Given the description of an element on the screen output the (x, y) to click on. 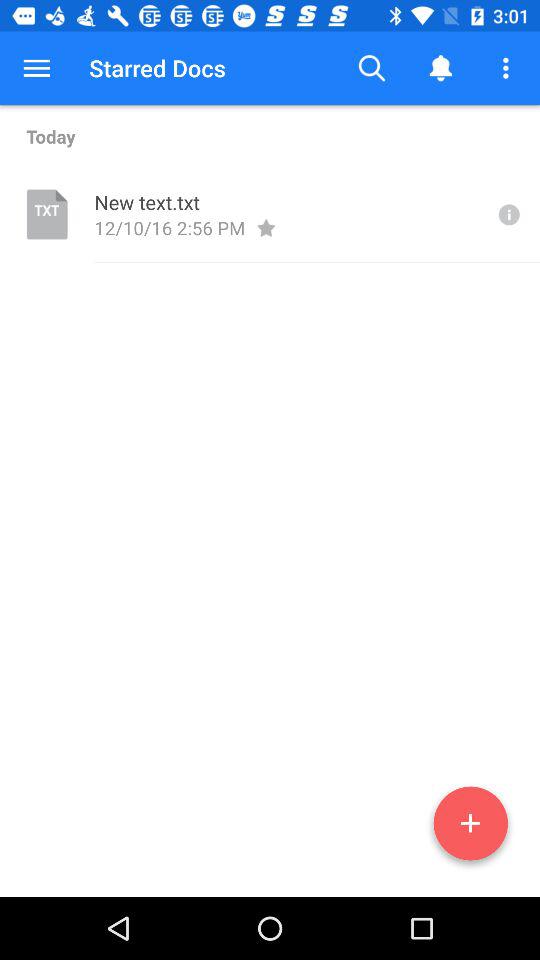
add new button (470, 827)
